Given the description of an element on the screen output the (x, y) to click on. 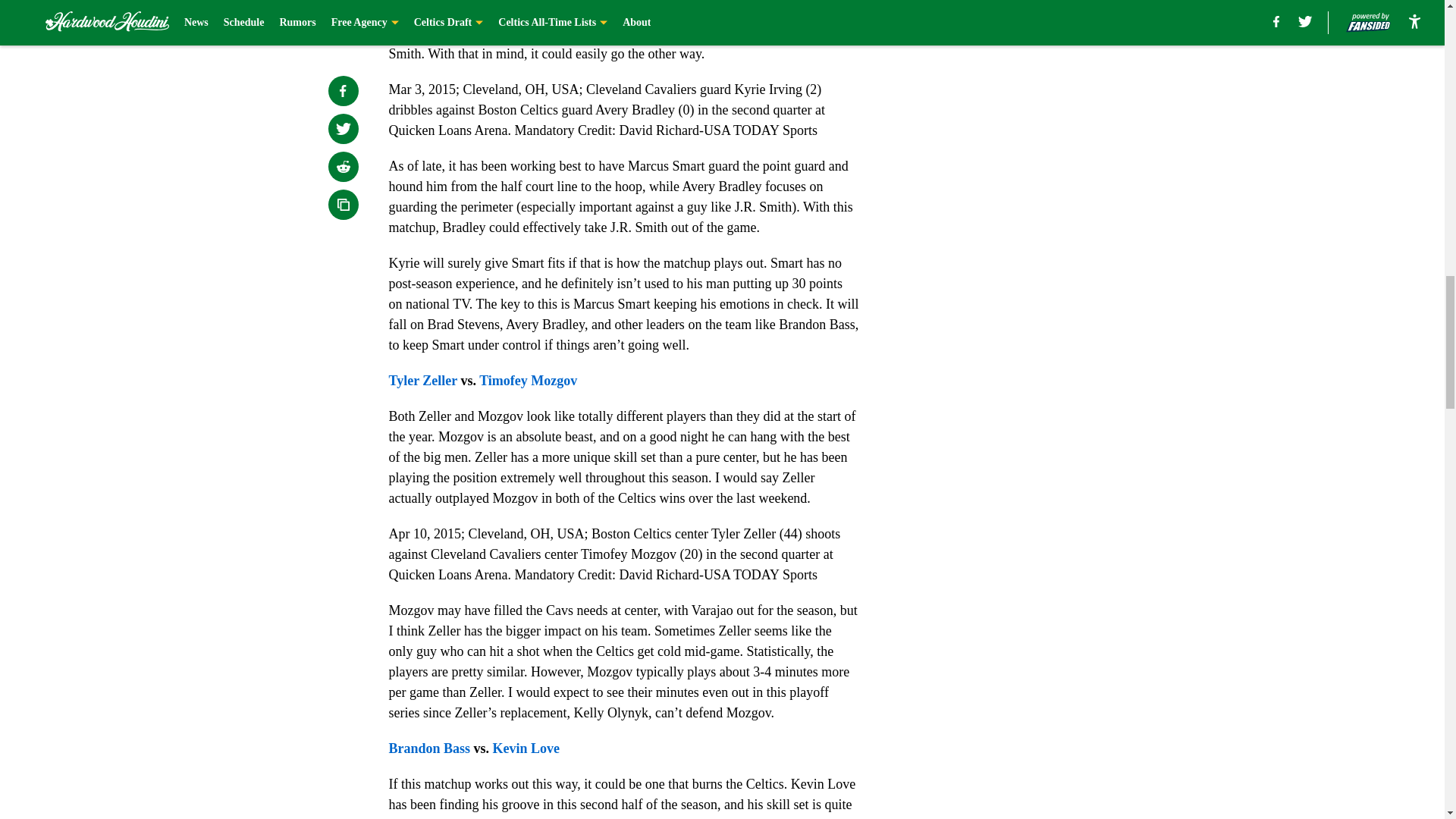
Timofey Mozgov (527, 380)
Brandon Bass (429, 748)
Kevin Love (526, 748)
Tyler Zeller (424, 380)
